Given the description of an element on the screen output the (x, y) to click on. 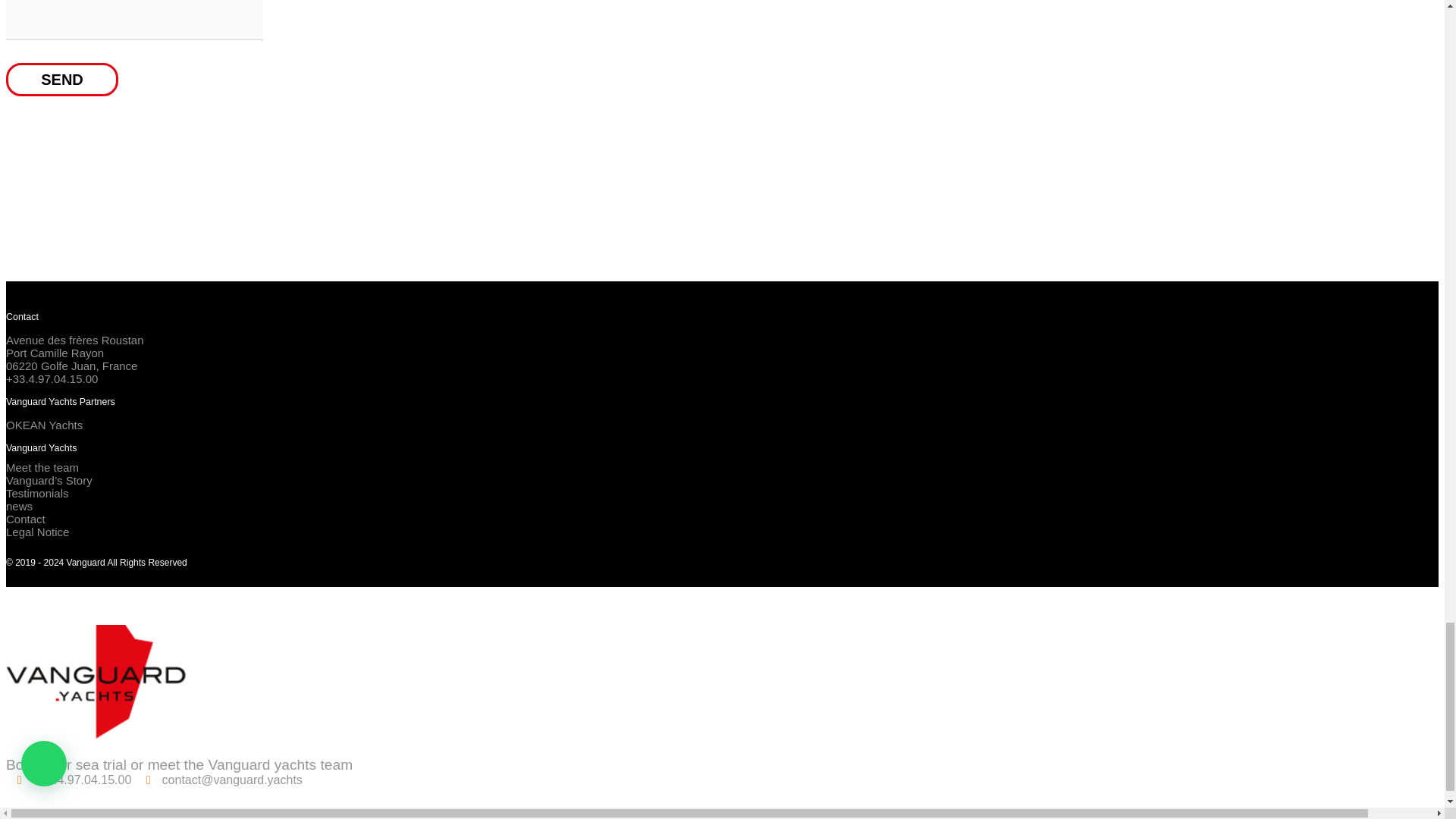
OKEAN Yachts (43, 424)
send (61, 79)
send (61, 79)
